Given the description of an element on the screen output the (x, y) to click on. 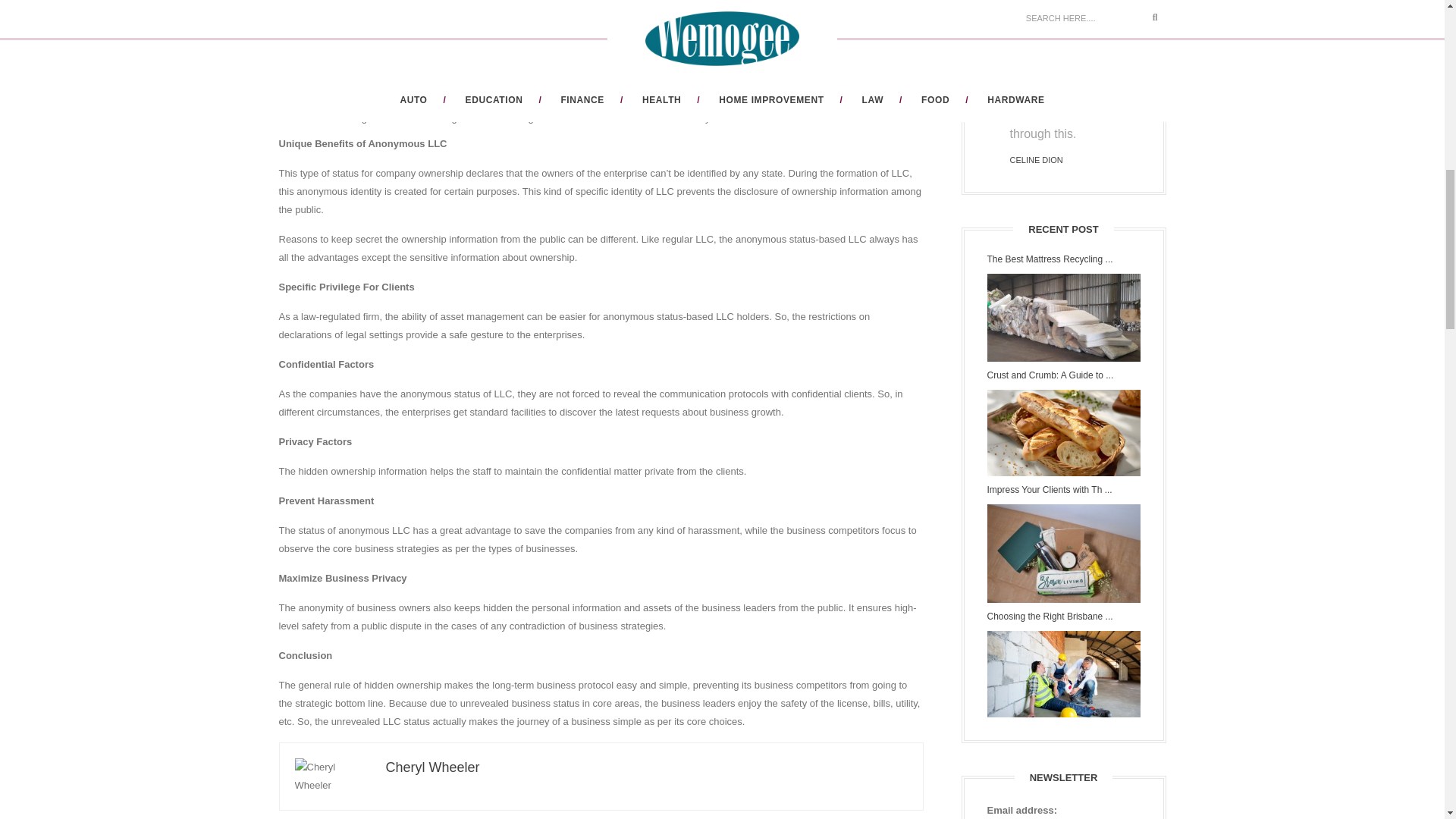
Cheryl Wheeler (432, 767)
Crust and Crumb: A Guide to ... (1063, 375)
The Best Mattress Recycling ... (1063, 259)
